Given the description of an element on the screen output the (x, y) to click on. 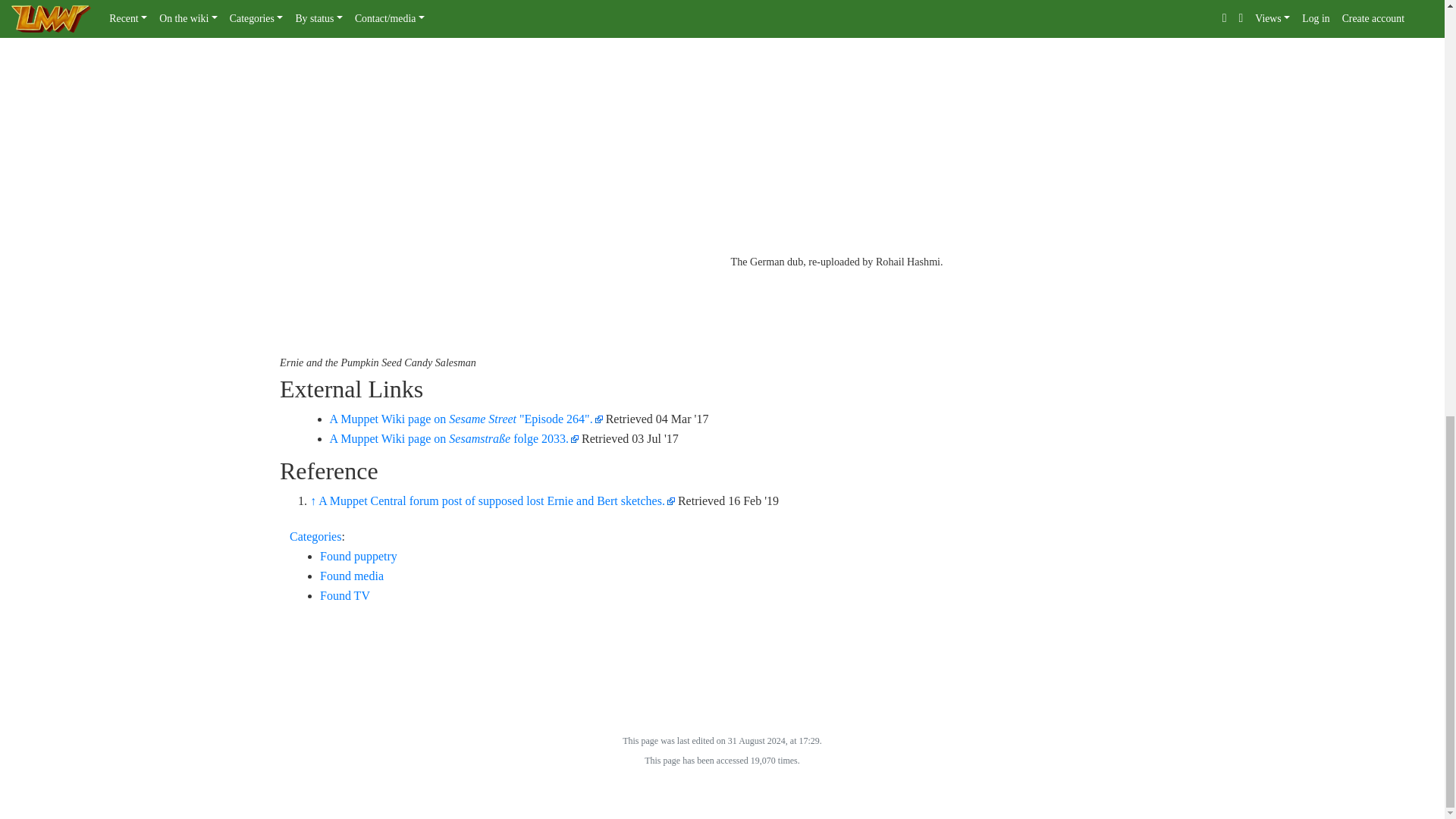
Special:Categories (314, 535)
Category:Found puppetry (358, 555)
Category:Found media (352, 575)
